Given the description of an element on the screen output the (x, y) to click on. 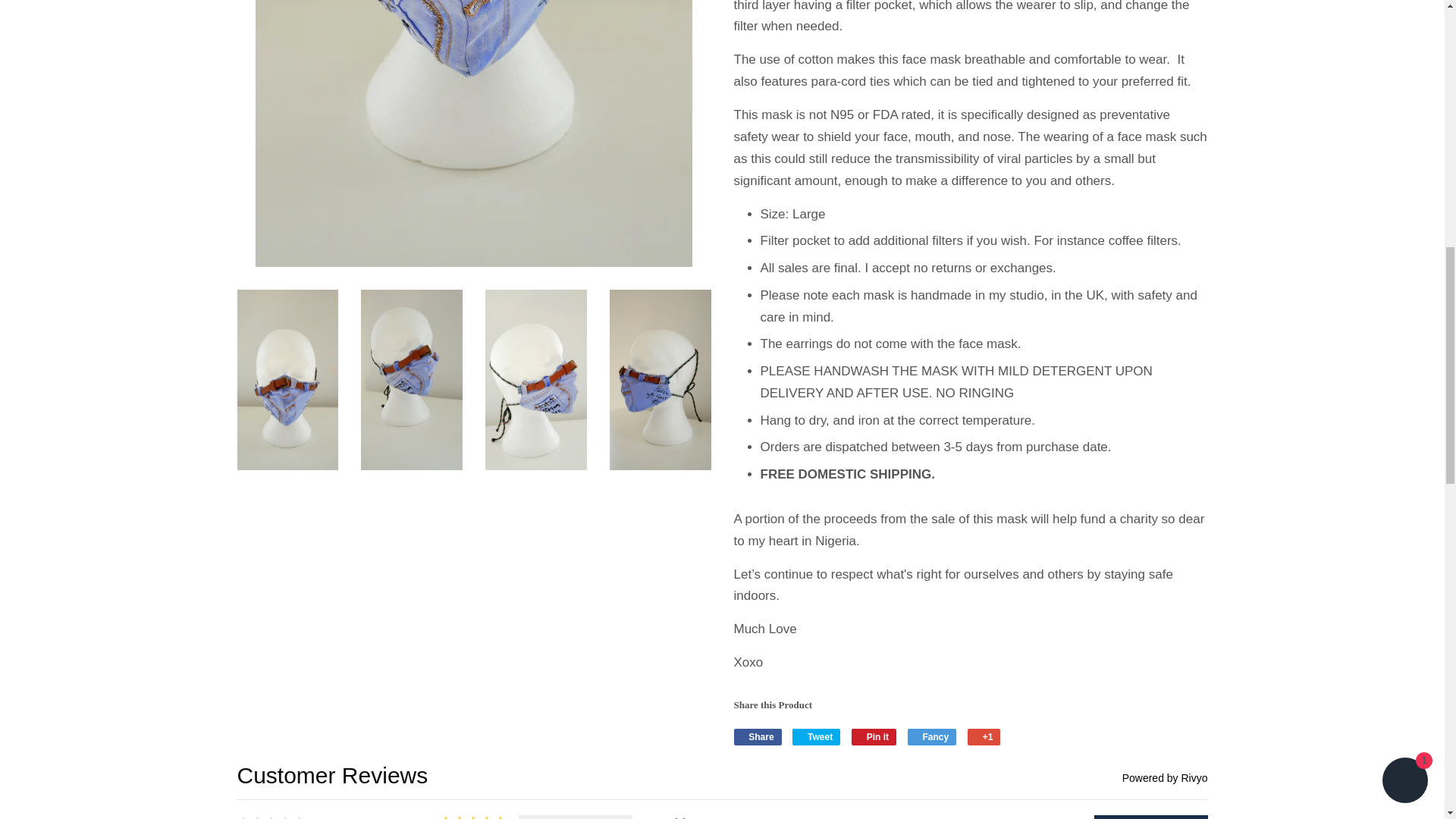
Add to Fancy (931, 736)
Share on Facebook (757, 736)
Pin on Pinterest (873, 736)
Tweet on Twitter (816, 736)
